Given the description of an element on the screen output the (x, y) to click on. 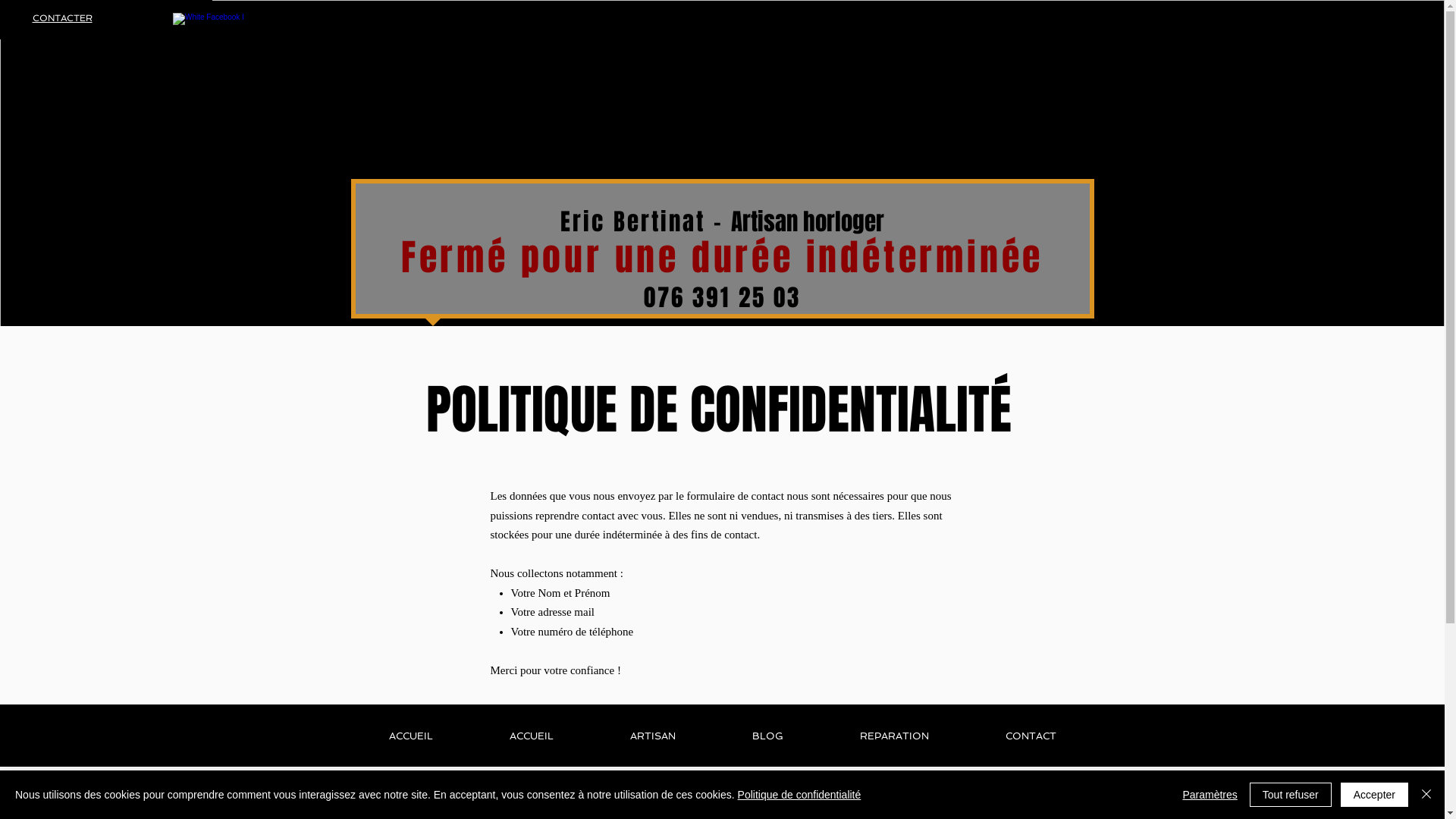
ACCUEIL Element type: text (410, 736)
BLOG Element type: text (768, 736)
ARTISAN Element type: text (652, 736)
ACCUEIL Element type: text (531, 736)
Tout refuser Element type: text (1290, 794)
Eric  Element type: text (586, 221)
CONTACT Element type: text (1030, 736)
Accepter Element type: text (1374, 794)
CONTACTER Element type: text (61, 17)
REPARATION Element type: text (894, 736)
